Given the description of an element on the screen output the (x, y) to click on. 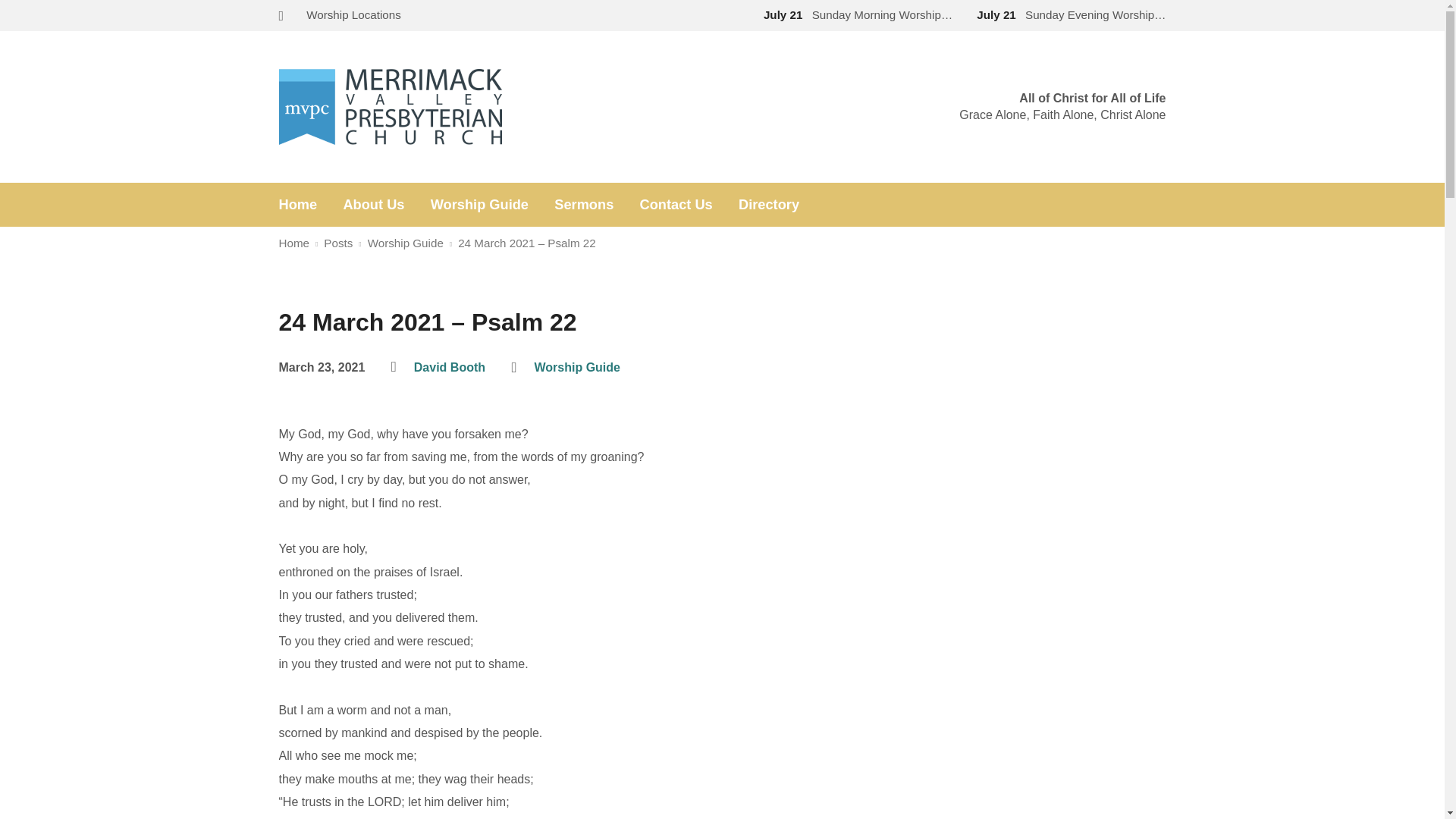
Home (294, 242)
Worship Guide (406, 242)
Contact Us (676, 204)
Posts (337, 242)
Sermons (583, 204)
Worship Locations (353, 14)
Directory (768, 204)
Worship Guide (577, 367)
Sunday Morning Worship Service (854, 14)
Sunday Evening Worship Service (1068, 14)
David Booth (448, 367)
Home (298, 204)
About Us (373, 204)
Worship Guide (479, 204)
